Given the description of an element on the screen output the (x, y) to click on. 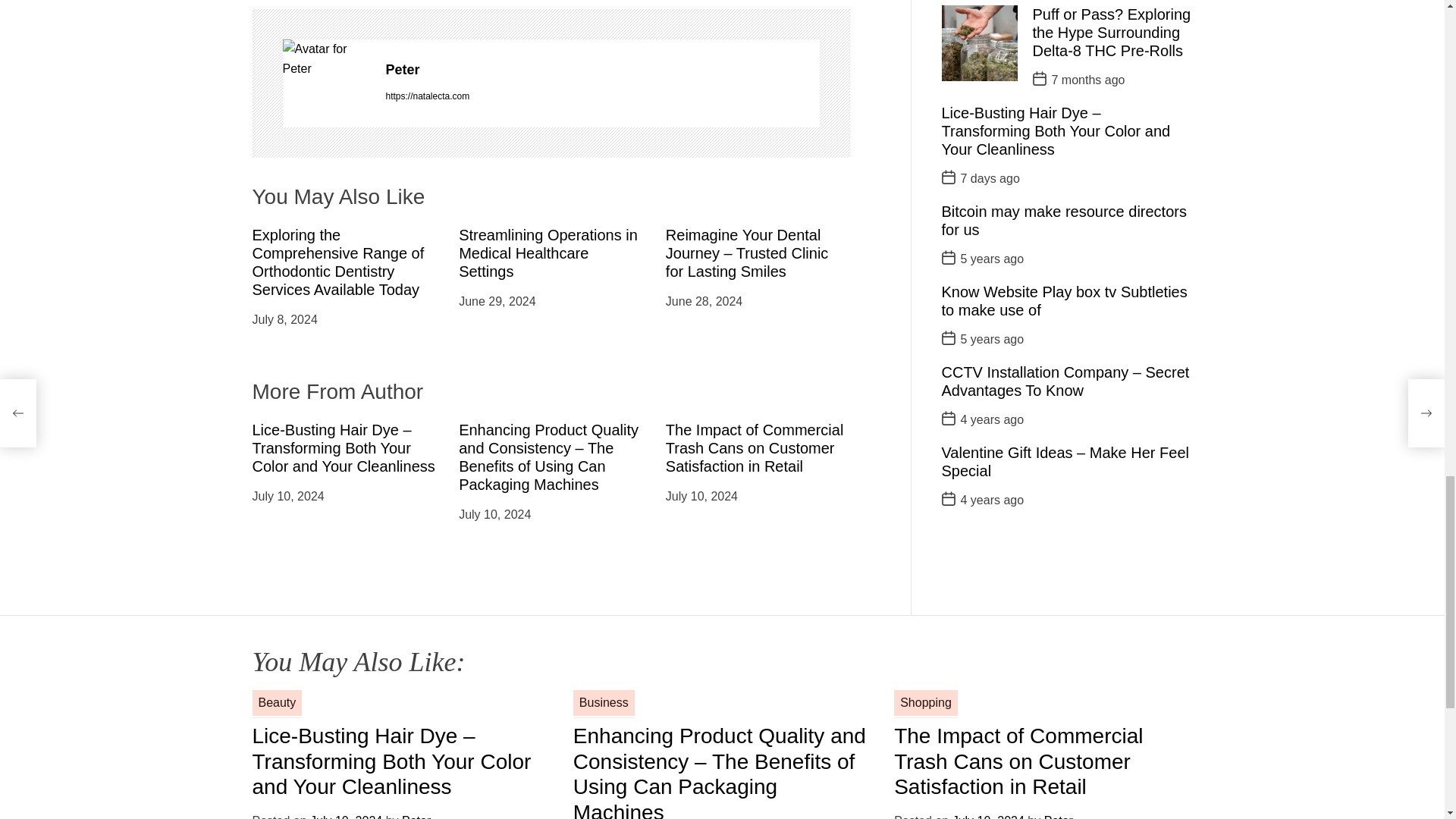
Streamlining Operations in Medical Healthcare Settings (547, 253)
Peter (325, 58)
Peter (601, 69)
Peter (601, 69)
